Given the description of an element on the screen output the (x, y) to click on. 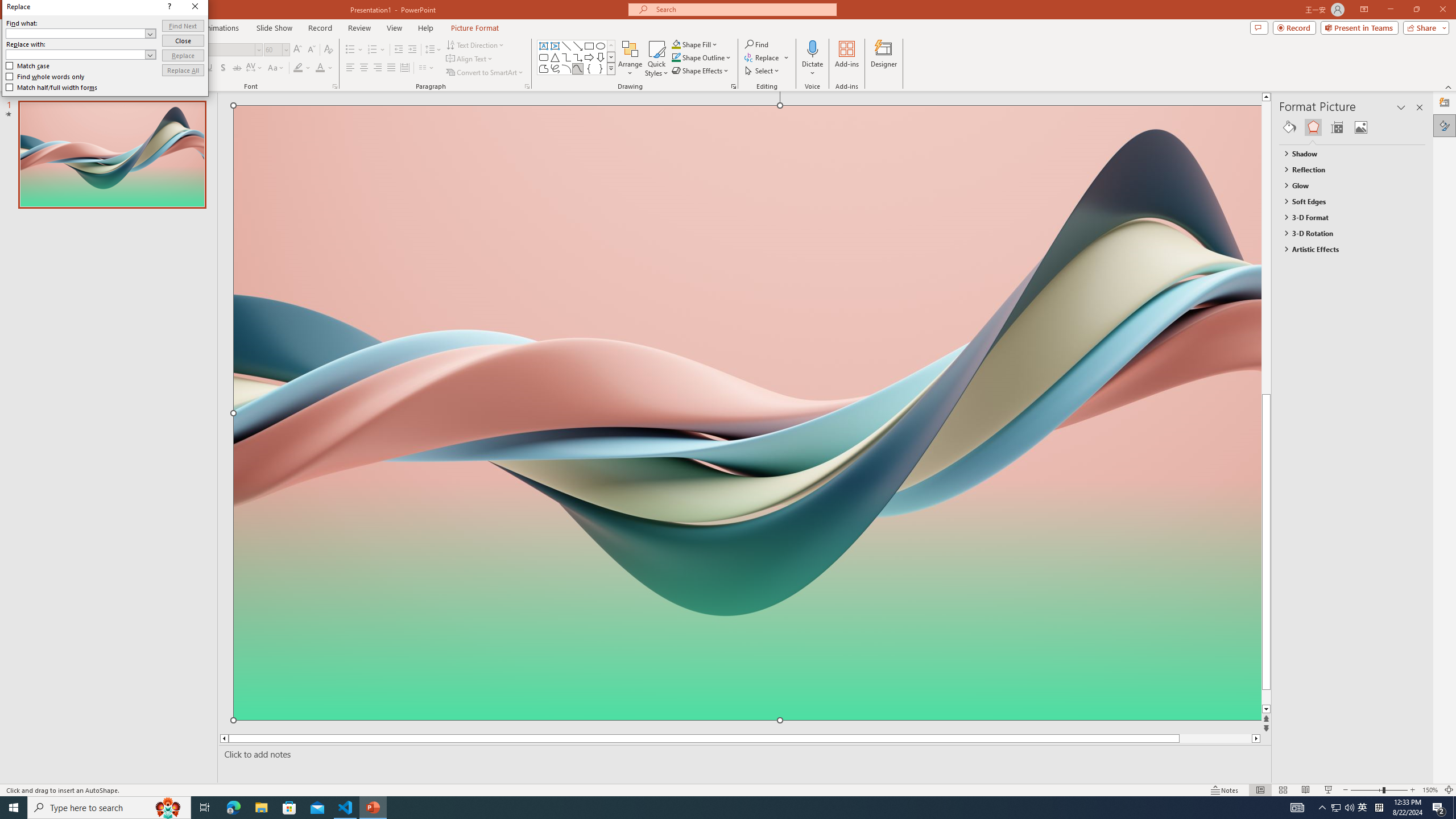
Class: NetUIGalleryContainer (1352, 126)
Find what (80, 33)
Replace (183, 55)
